Given the description of an element on the screen output the (x, y) to click on. 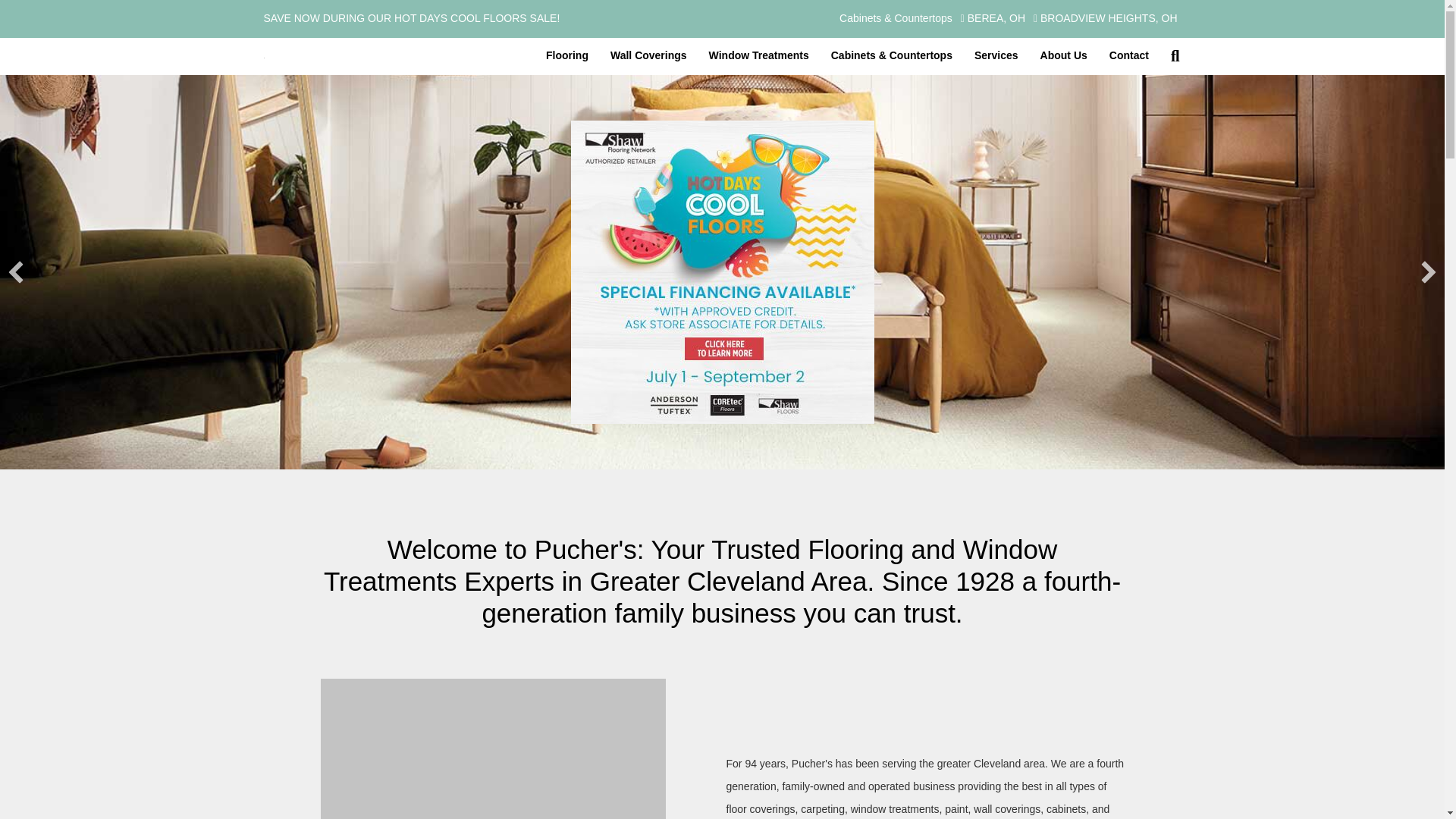
Flooring (566, 55)
BROADVIEW HEIGHTS, OH (1104, 19)
BEREA, OH (992, 19)
SAVE NOW DURING OUR HOT DAYS COOL FLOORS SALE! (485, 18)
